Given the description of an element on the screen output the (x, y) to click on. 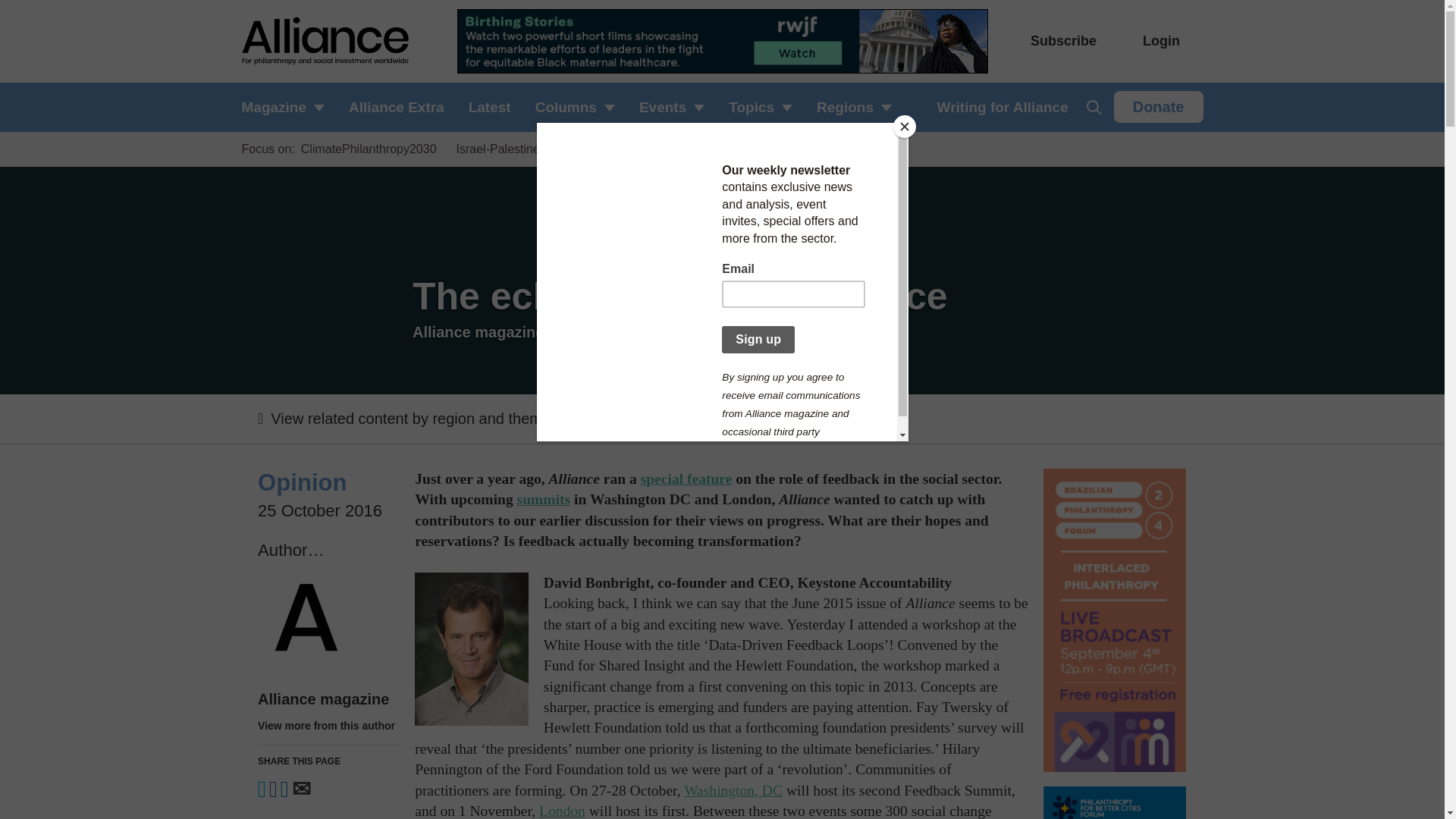
Search (1094, 106)
Alliance Extra (396, 106)
Donate (1158, 106)
Login (1160, 40)
Subscribe (1063, 40)
Latest (489, 106)
Topics (760, 106)
Magazine (288, 106)
Columns (574, 106)
Events (671, 106)
